Given the description of an element on the screen output the (x, y) to click on. 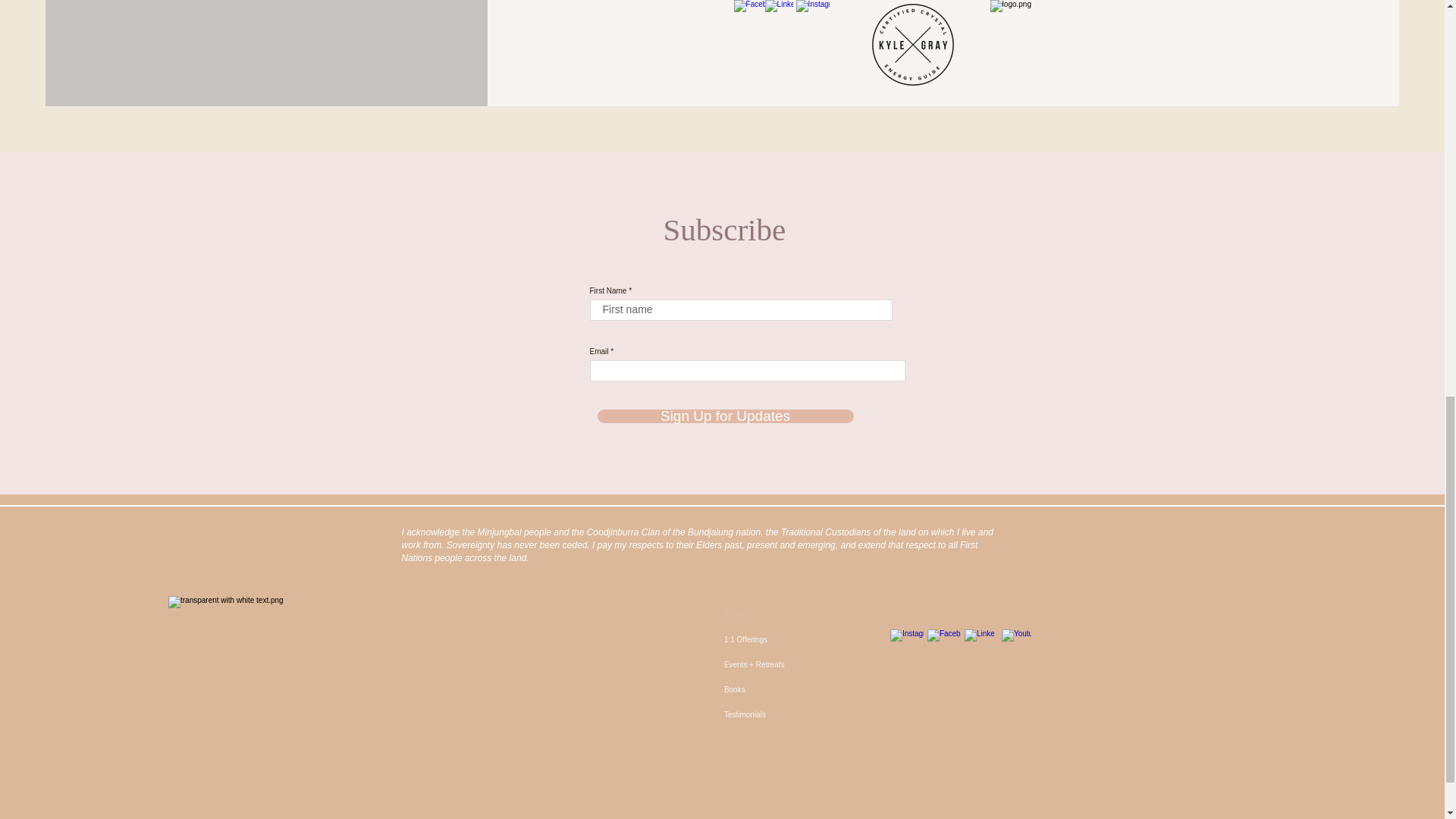
About (786, 614)
Books (786, 689)
1:1 Offerings (786, 639)
Testimonials (786, 714)
Sign Up for Updates (724, 416)
